Given the description of an element on the screen output the (x, y) to click on. 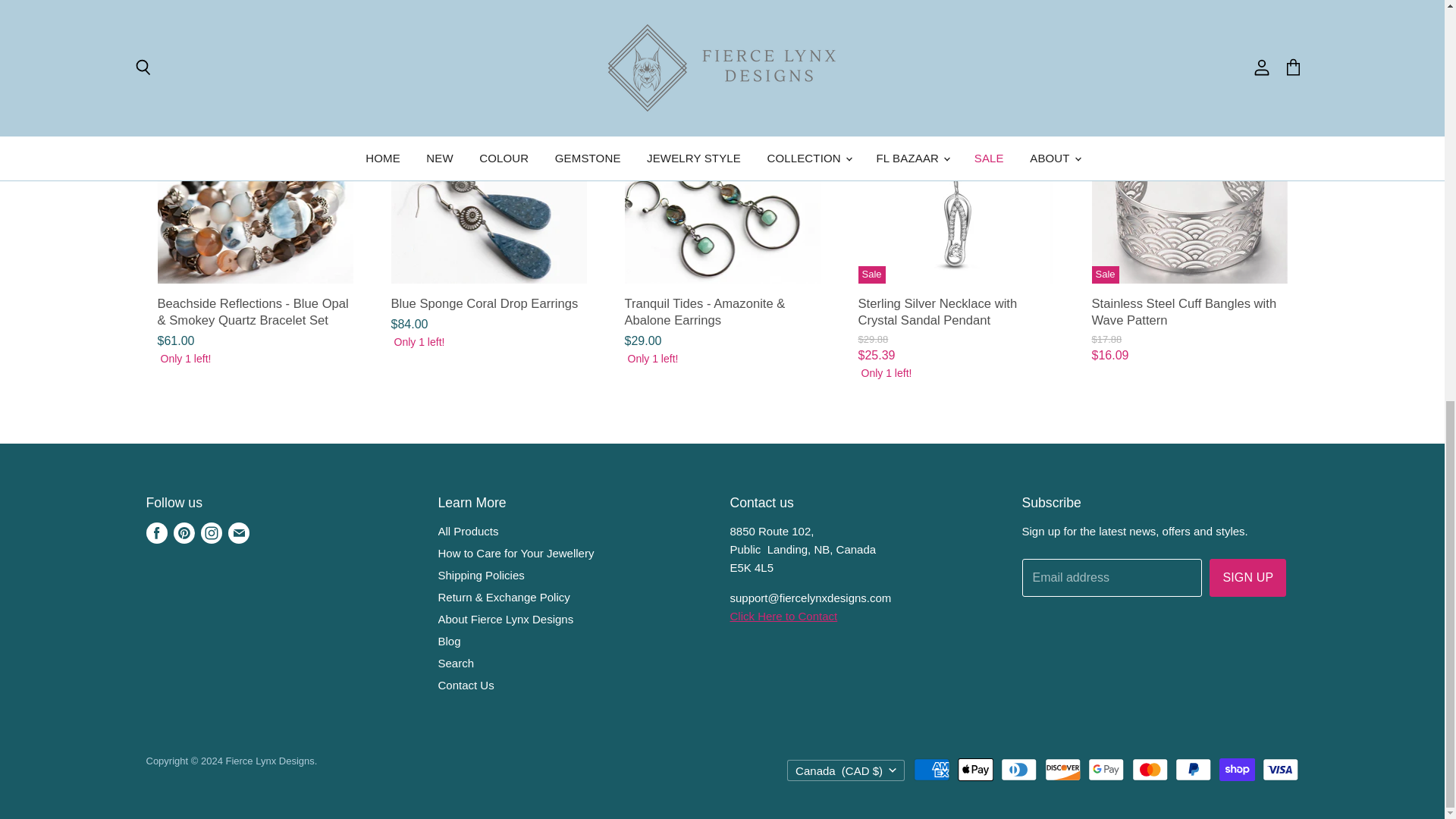
Pinterest (183, 533)
Instagram (210, 533)
Facebook (156, 533)
E-mail (237, 533)
